Given the description of an element on the screen output the (x, y) to click on. 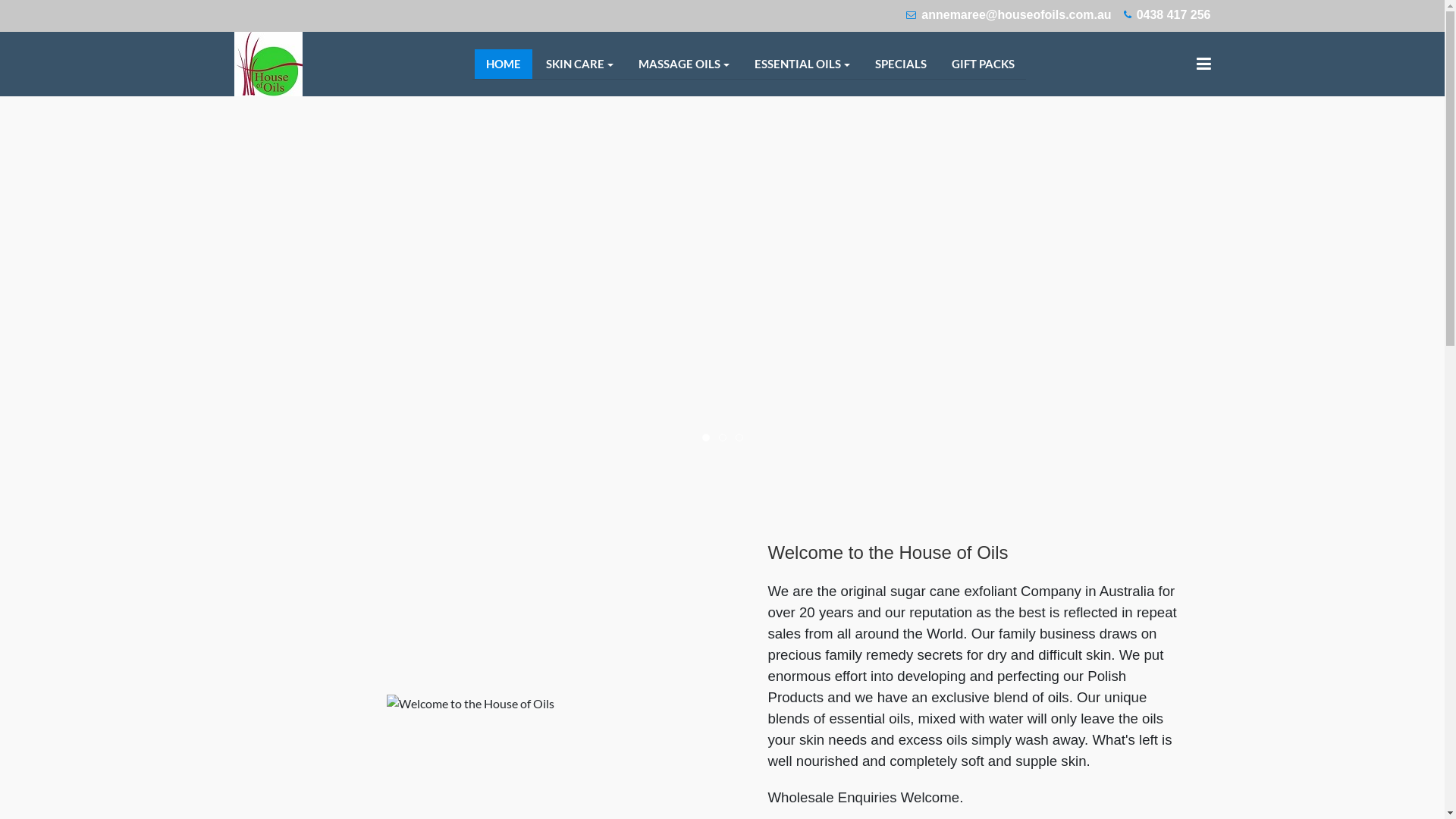
SPECIALS Element type: text (900, 63)
HOME Element type: text (503, 63)
Banner3hp Element type: text (705, 437)
Banner2hp Element type: text (739, 437)
Banner1hp Element type: text (722, 437)
GIFT PACKS Element type: text (983, 63)
